Given the description of an element on the screen output the (x, y) to click on. 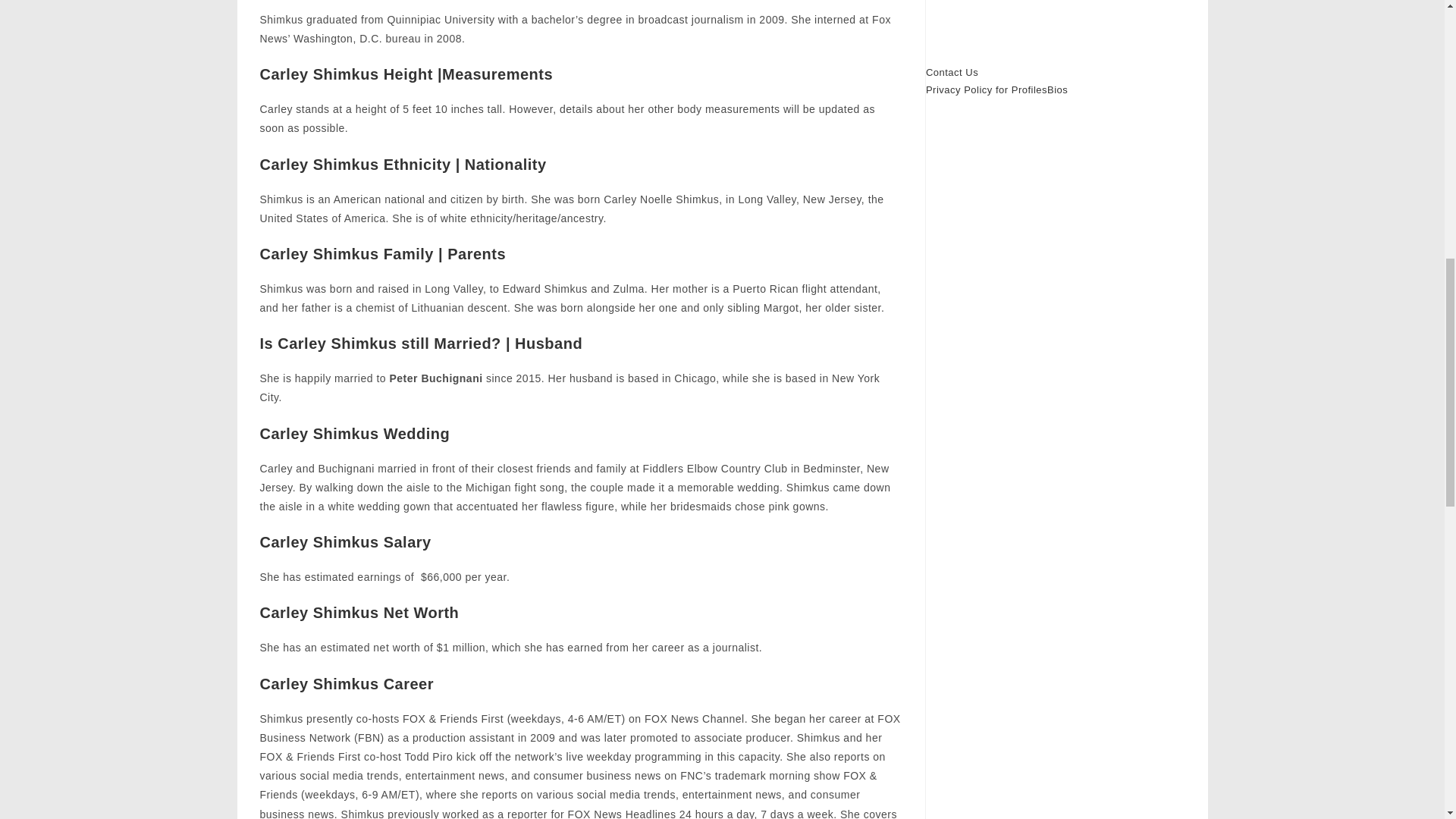
Privacy Policy for ProfilesBios (996, 89)
Contact Us (952, 71)
